Given the description of an element on the screen output the (x, y) to click on. 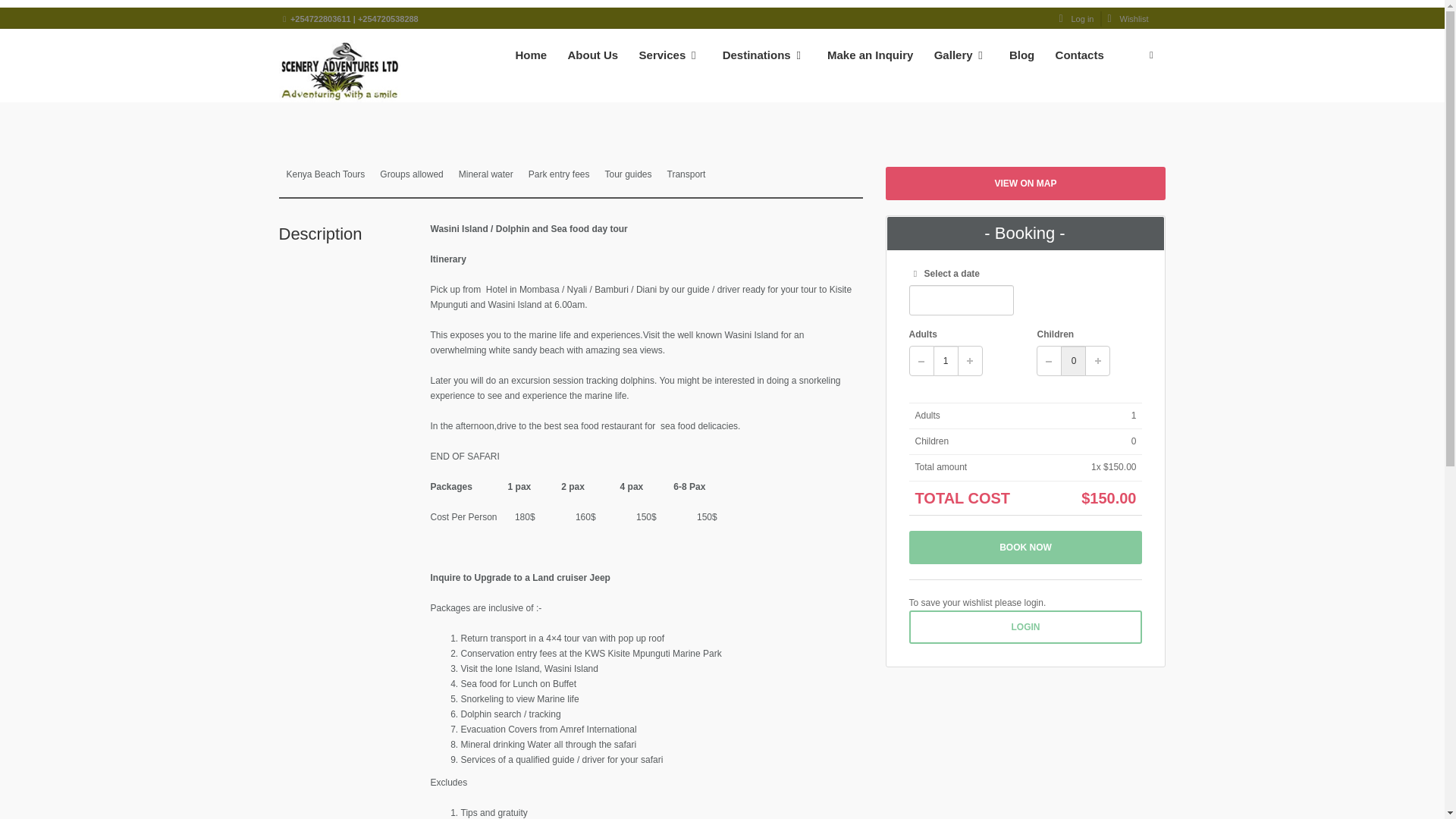
Home (304, 14)
Make an Inquiry (869, 60)
Services (670, 60)
Destinations (764, 60)
Log in (1075, 18)
Tours (340, 14)
Home (531, 60)
About Us (593, 60)
Wishlist (1128, 18)
Gallery (960, 60)
